Given the description of an element on the screen output the (x, y) to click on. 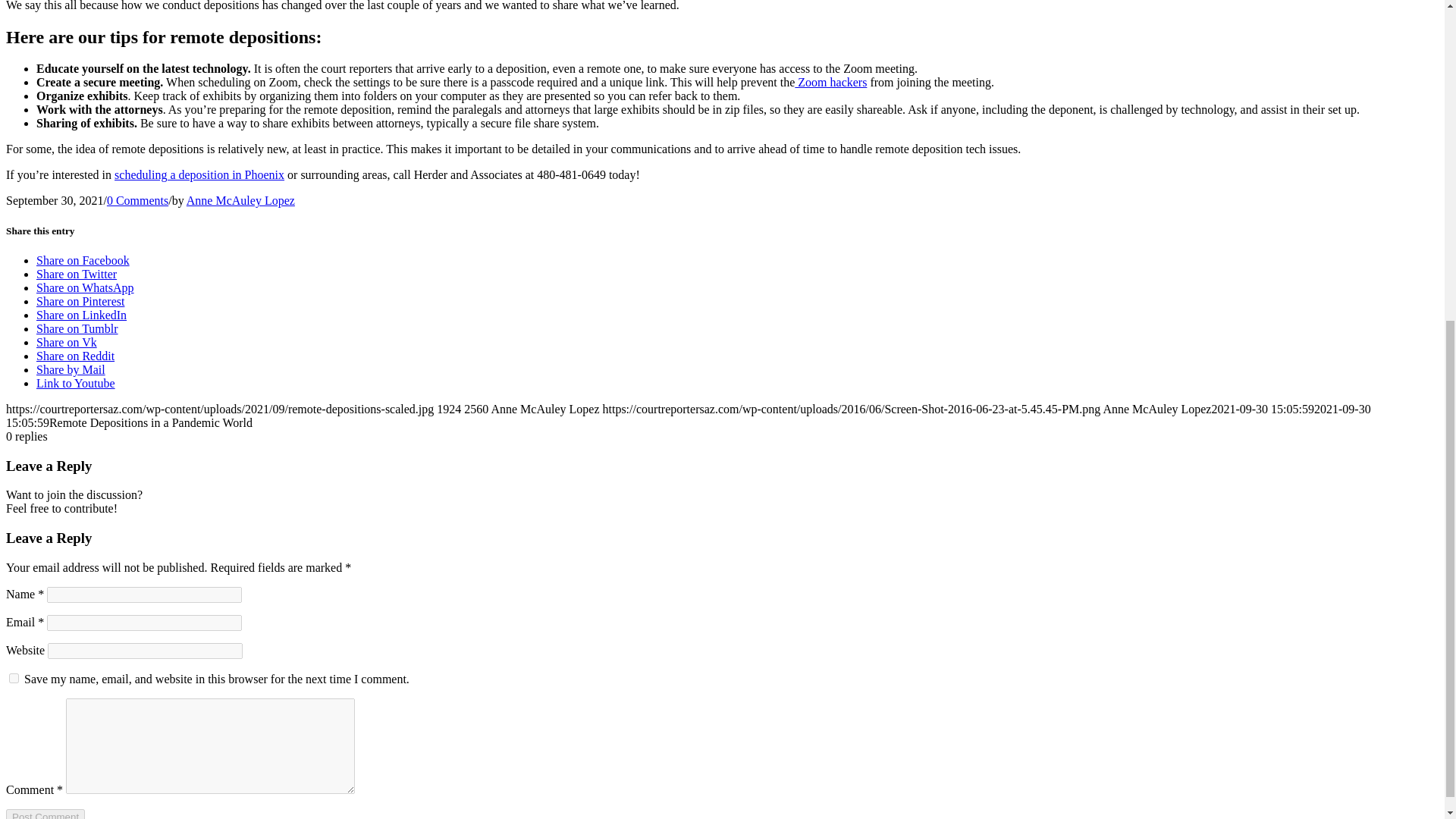
Share on Twitter (76, 273)
Share on LinkedIn (81, 314)
0 Comments (137, 200)
Share on Vk (66, 341)
Anne McAuley Lopez (240, 200)
Zoom hackers (830, 82)
Share on Tumblr (76, 328)
yes (13, 678)
Share on Reddit (75, 355)
Link to Youtube (75, 382)
Share on WhatsApp (84, 287)
Share on Facebook (82, 259)
Share by Mail (70, 369)
Share on Pinterest (79, 300)
scheduling a deposition in Phoenix (199, 174)
